Given the description of an element on the screen output the (x, y) to click on. 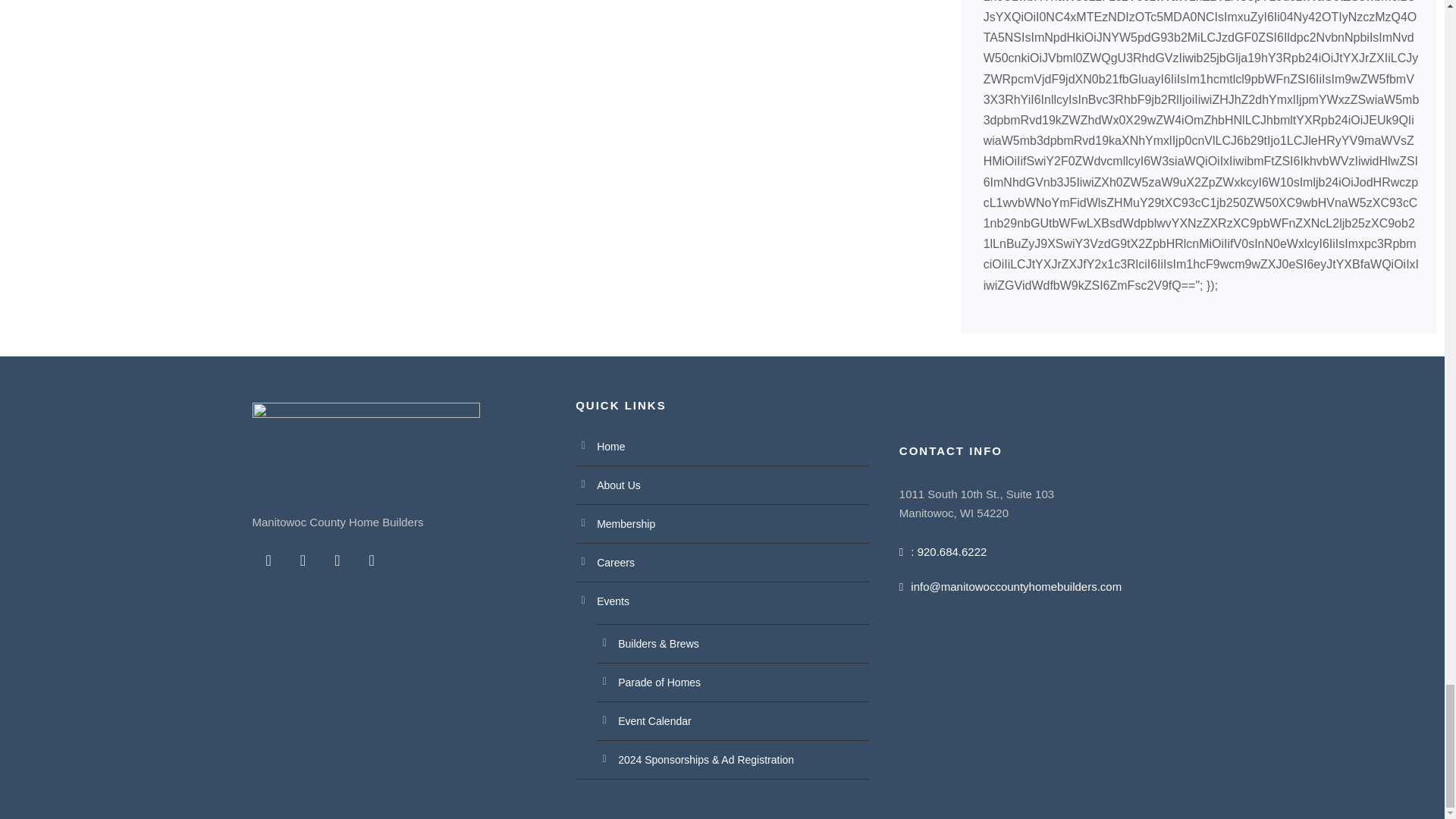
Home (610, 446)
Careers (615, 562)
Events (612, 601)
Membership (625, 523)
About Us (618, 485)
